Given the description of an element on the screen output the (x, y) to click on. 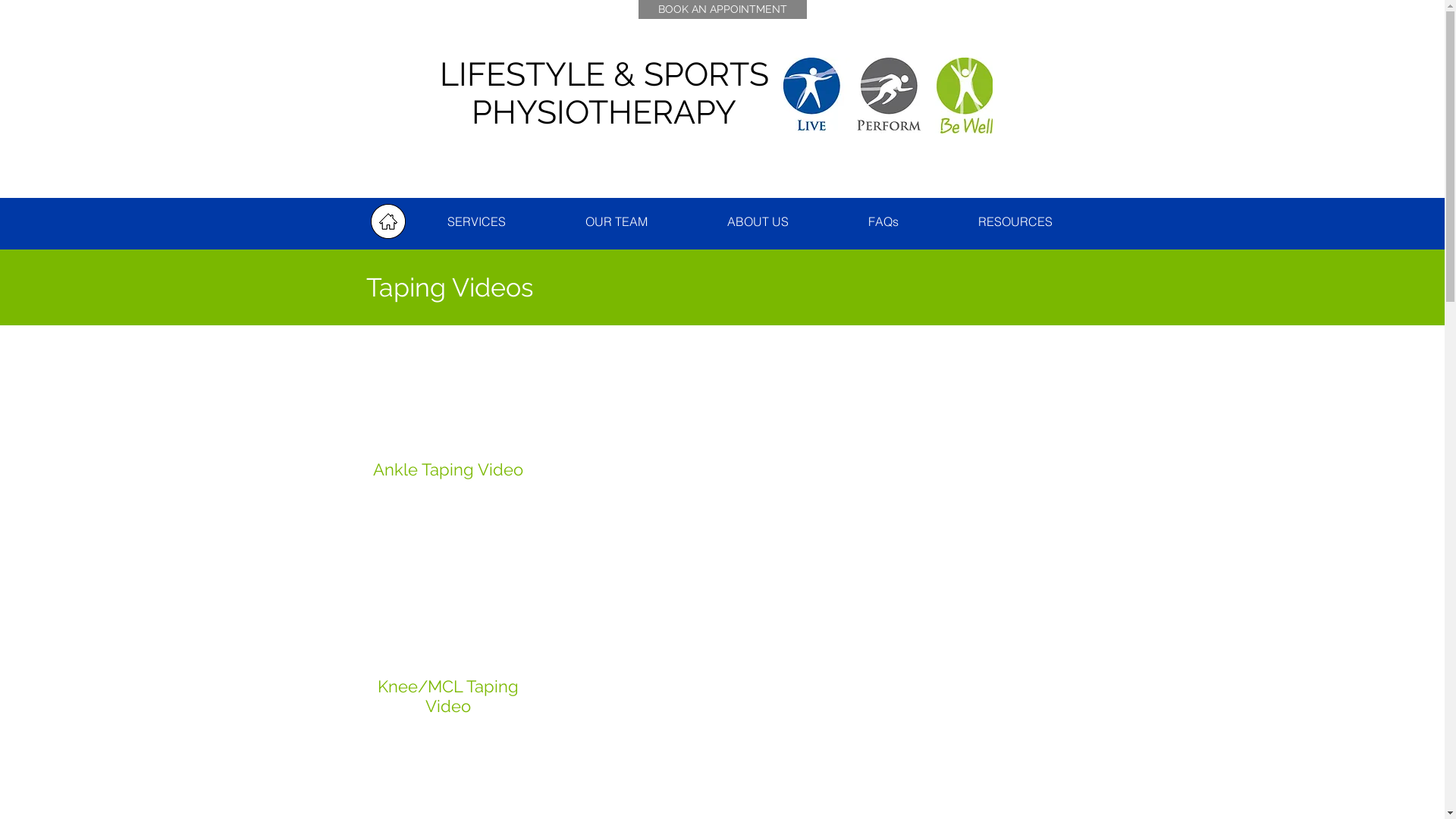
External YouTube Element type: hover (721, 469)
FAQs Element type: text (883, 221)
ABOUT US Element type: text (757, 221)
SERVICES Element type: text (476, 221)
OUR TEAM Element type: text (616, 221)
BOOK AN APPOINTMENT Element type: text (722, 9)
